Given the description of an element on the screen output the (x, y) to click on. 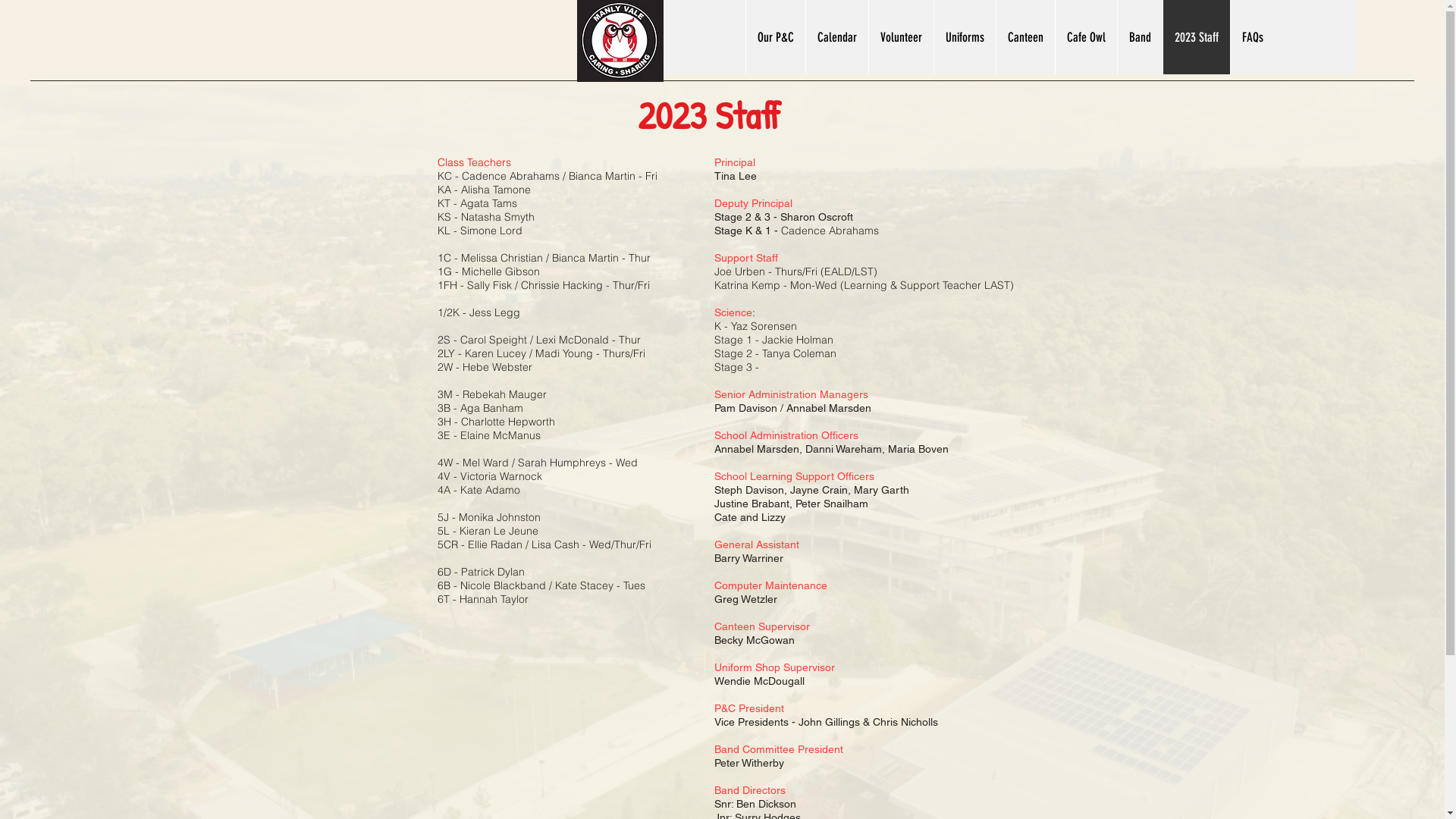
Calendar Element type: text (836, 37)
2023 Staff Element type: text (1196, 37)
Cafe Owl Element type: text (1085, 37)
Volunteer Element type: text (900, 37)
Band Element type: text (1139, 37)
Our P&C Element type: text (775, 37)
FAQs Element type: text (1252, 37)
Canteen Element type: text (1024, 37)
Uniforms Element type: text (964, 37)
